Given the description of an element on the screen output the (x, y) to click on. 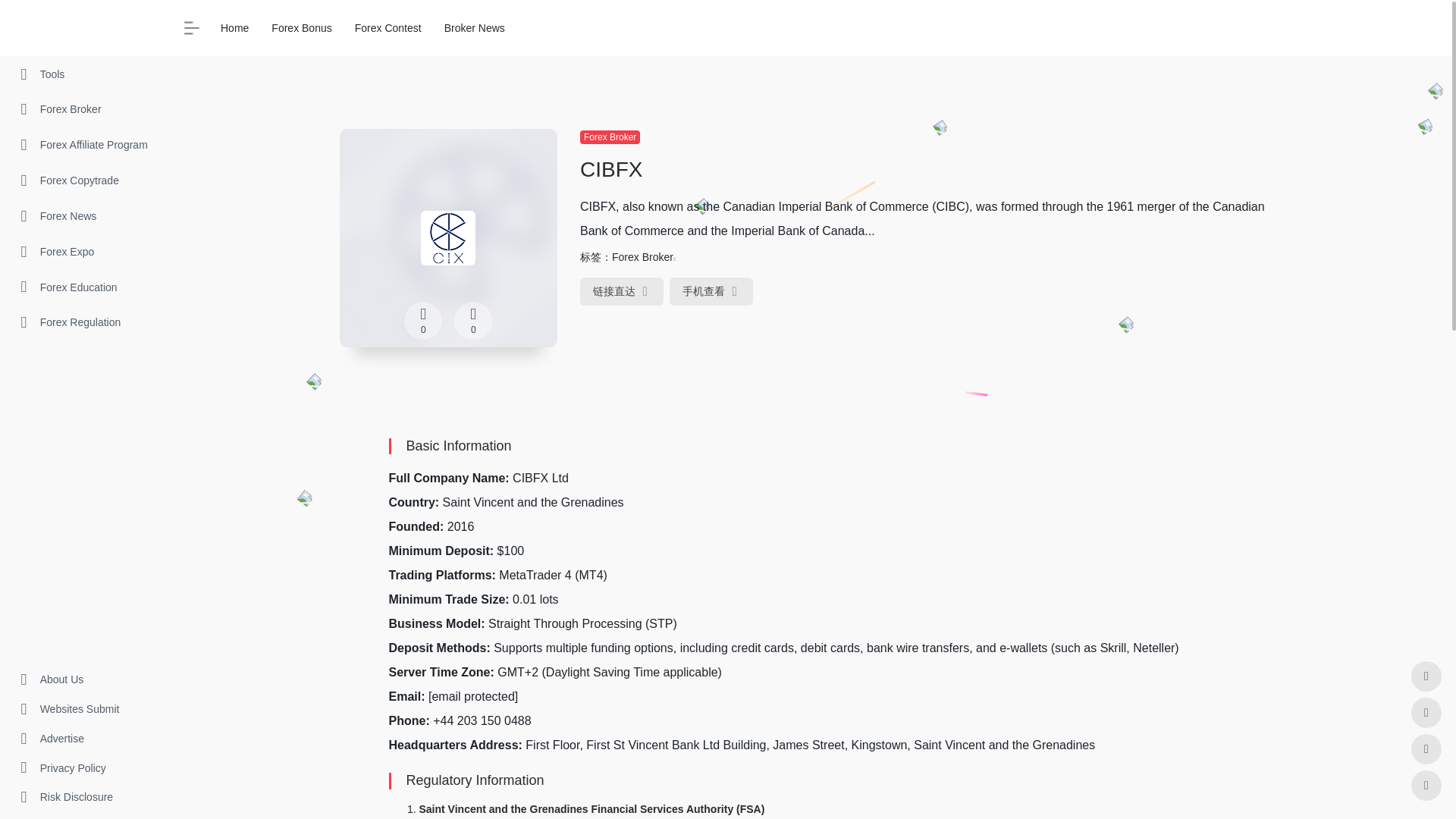
About Us (82, 679)
Forex Bonus (301, 27)
0 (423, 320)
Broker News (474, 27)
0 (473, 320)
Forex Education (82, 286)
QQ (1425, 712)
Forex Expo (82, 252)
Privacy Policy (82, 767)
Forex News (82, 216)
